Given the description of an element on the screen output the (x, y) to click on. 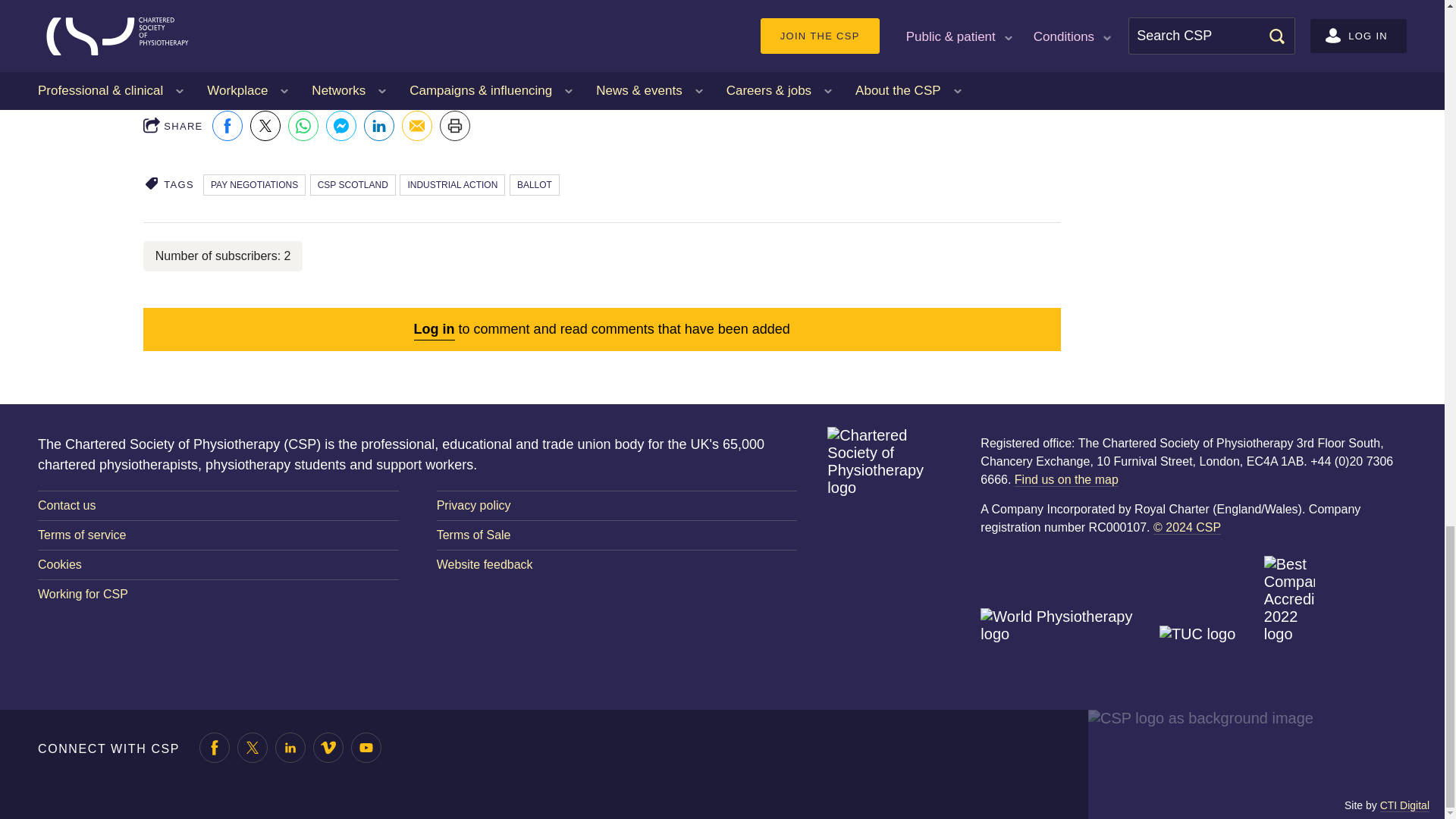
WhatsApp (303, 125)
Facebook messenger (341, 125)
Email (416, 125)
Webform for contacting the CSP. (217, 505)
World Physiotherapy (1066, 642)
Linkedin (379, 125)
The CSP-wide privacy policy (616, 505)
Facebook (227, 125)
